Given the description of an element on the screen output the (x, y) to click on. 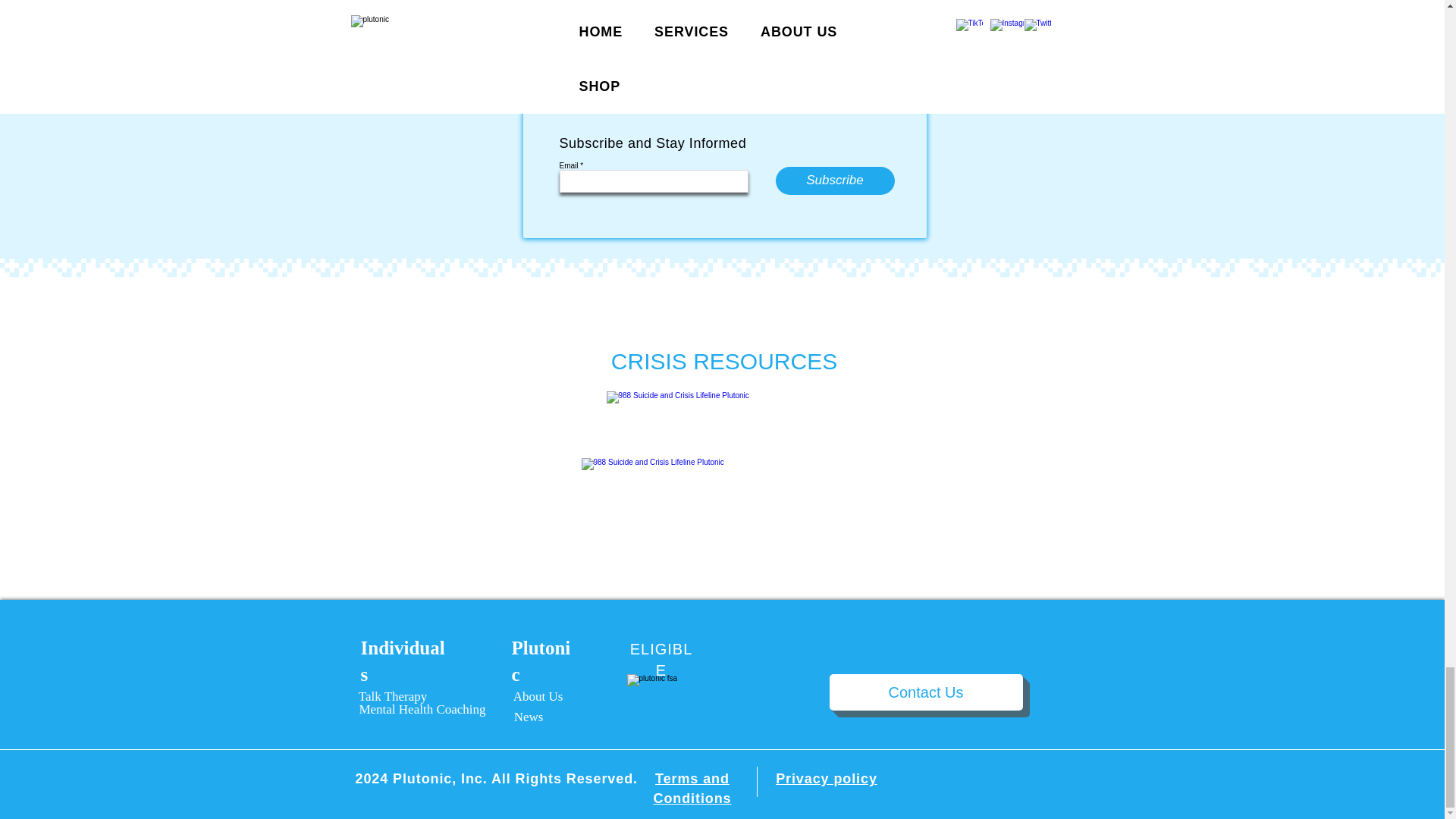
Contact Us (926, 692)
Talk Therapy (392, 696)
Privacy policy (826, 778)
Subscribe (833, 180)
Mental Health Coaching (422, 709)
About Us (537, 696)
News (527, 716)
Terms and Conditions (692, 788)
